Given the description of an element on the screen output the (x, y) to click on. 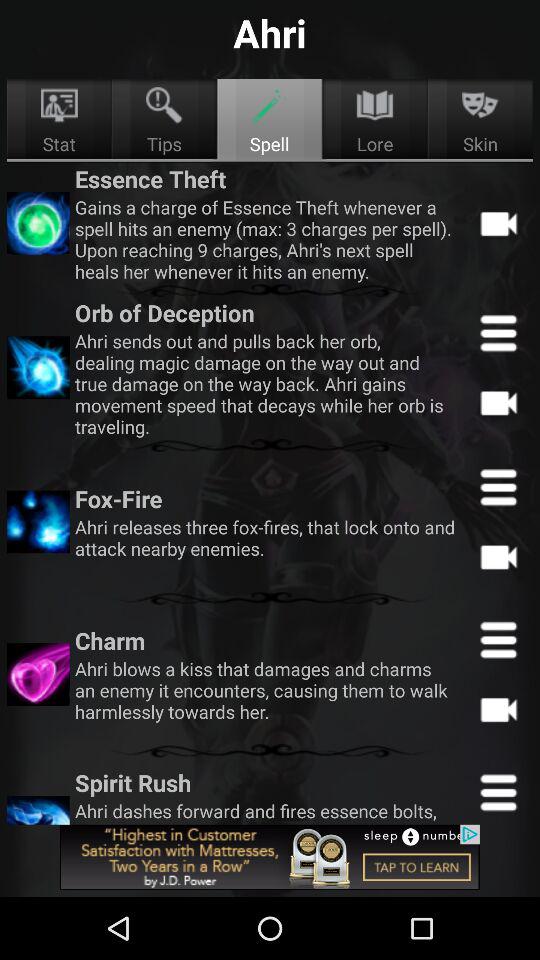
more information (498, 639)
